Given the description of an element on the screen output the (x, y) to click on. 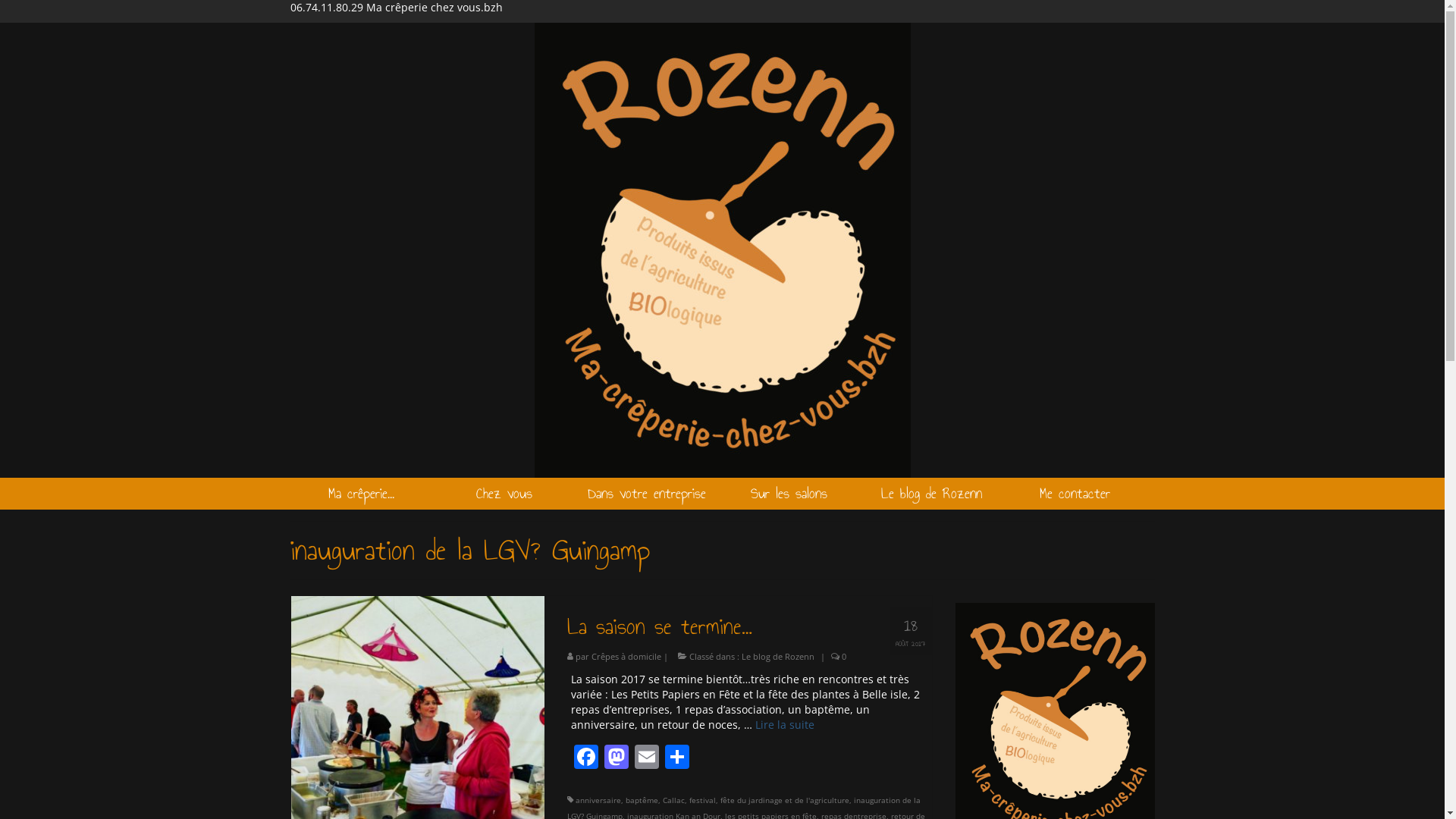
Le blog de Rozenn Element type: text (777, 656)
festival Element type: text (702, 799)
anniversaire Element type: text (598, 799)
Sur les salons Element type: text (789, 493)
Mastodon Element type: text (616, 757)
Le blog de Rozenn Element type: text (931, 493)
Partager Element type: text (677, 757)
Email Element type: text (646, 757)
Me contacter Element type: text (1074, 493)
Chez vous Element type: text (504, 493)
Dans votre entreprise Element type: text (646, 493)
Callac Element type: text (673, 799)
Facebook Element type: text (586, 757)
